Given the description of an element on the screen output the (x, y) to click on. 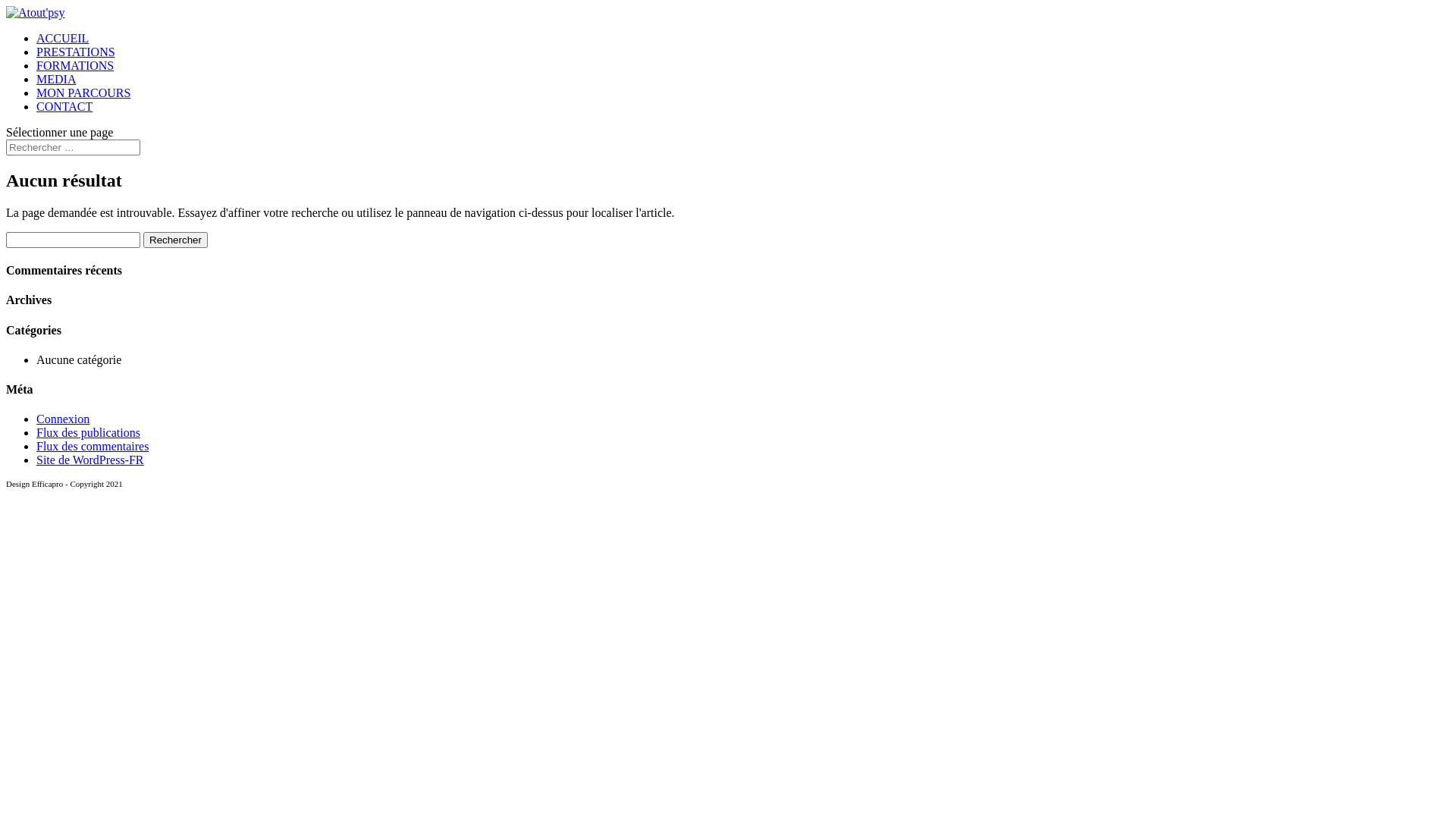
Flux des commentaires Element type: text (92, 445)
ACCUEIL Element type: text (62, 37)
Rechercher: Element type: hover (73, 147)
MEDIA Element type: text (55, 78)
Connexion Element type: text (62, 418)
Site de WordPress-FR Element type: text (90, 459)
Rechercher Element type: text (175, 239)
Flux des publications Element type: text (88, 432)
CONTACT Element type: text (64, 106)
FORMATIONS Element type: text (74, 65)
PRESTATIONS Element type: text (75, 51)
MON PARCOURS Element type: text (83, 92)
